Given the description of an element on the screen output the (x, y) to click on. 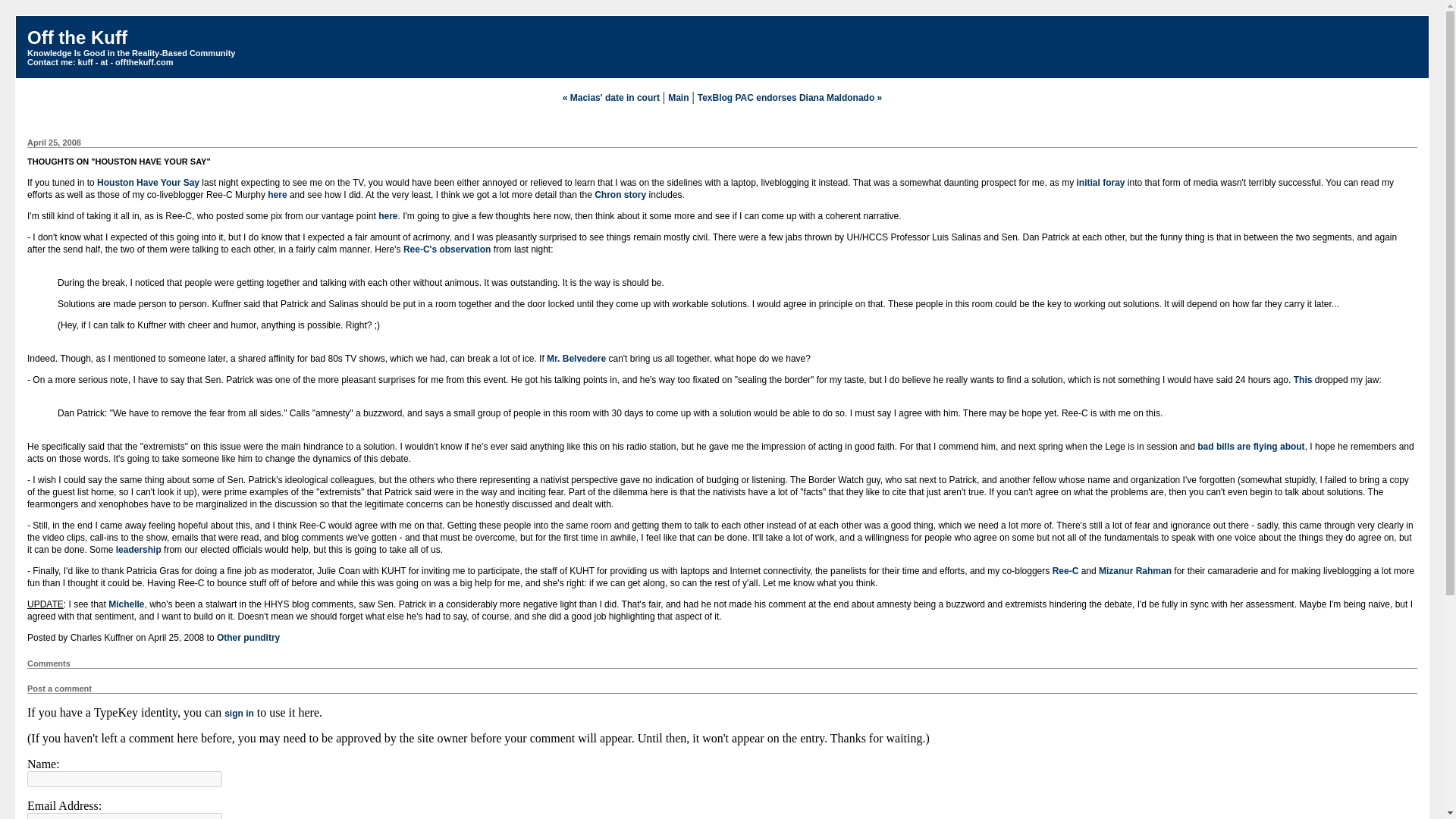
Other punditry (247, 637)
initial foray (1099, 182)
This (1303, 379)
sign in (238, 713)
bad bills are flying about (1250, 446)
Mr. Belvedere (576, 357)
leadership (138, 549)
Mizanur Rahman (1135, 570)
Chron story (620, 194)
Main (678, 97)
Ree-C (1065, 570)
here (276, 194)
Michelle (125, 603)
here (387, 215)
Ree-C's observation (447, 249)
